Given the description of an element on the screen output the (x, y) to click on. 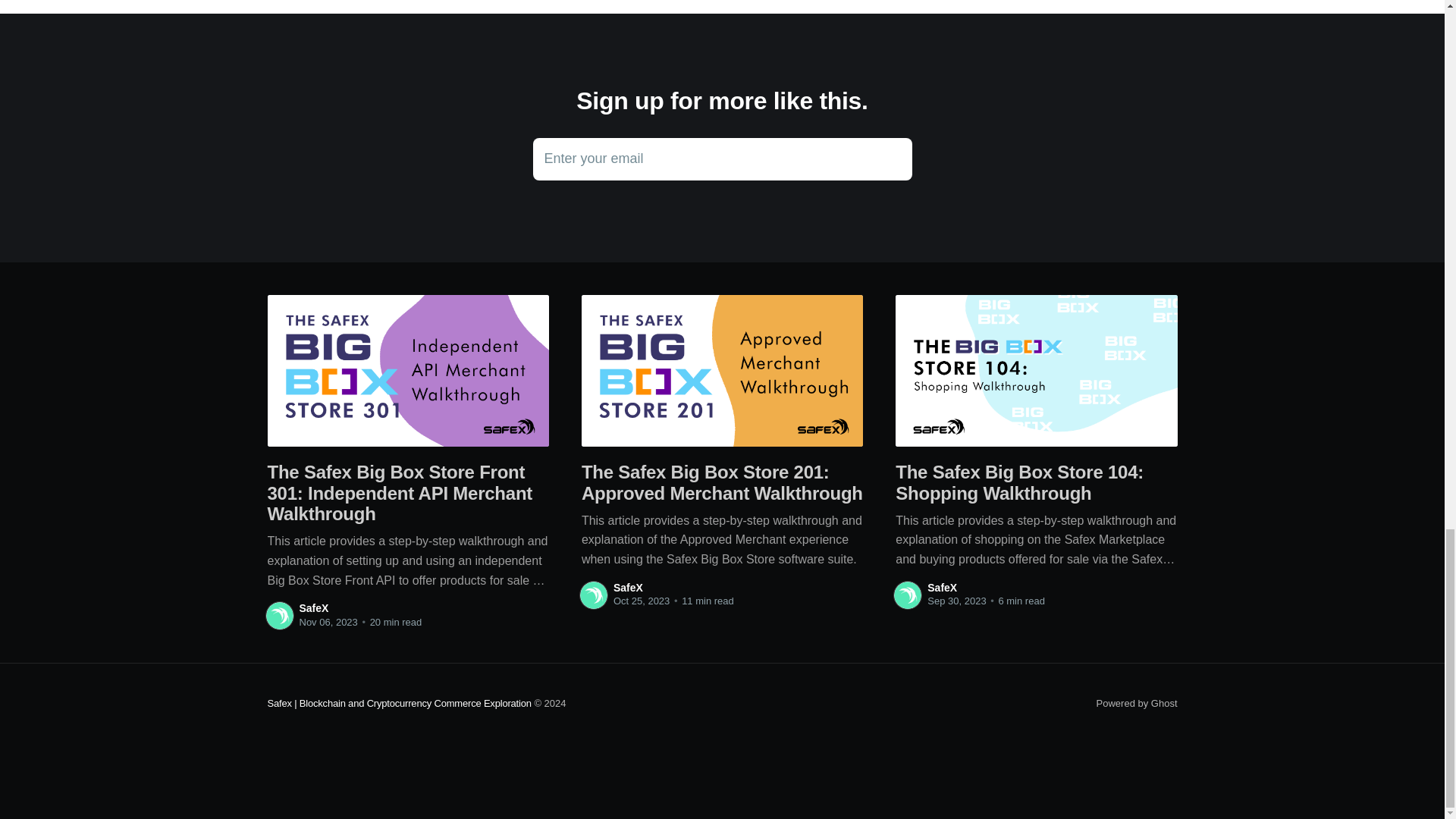
SafeX (313, 607)
Powered by Ghost (1136, 703)
SafeX (627, 586)
SafeX (941, 586)
